Given the description of an element on the screen output the (x, y) to click on. 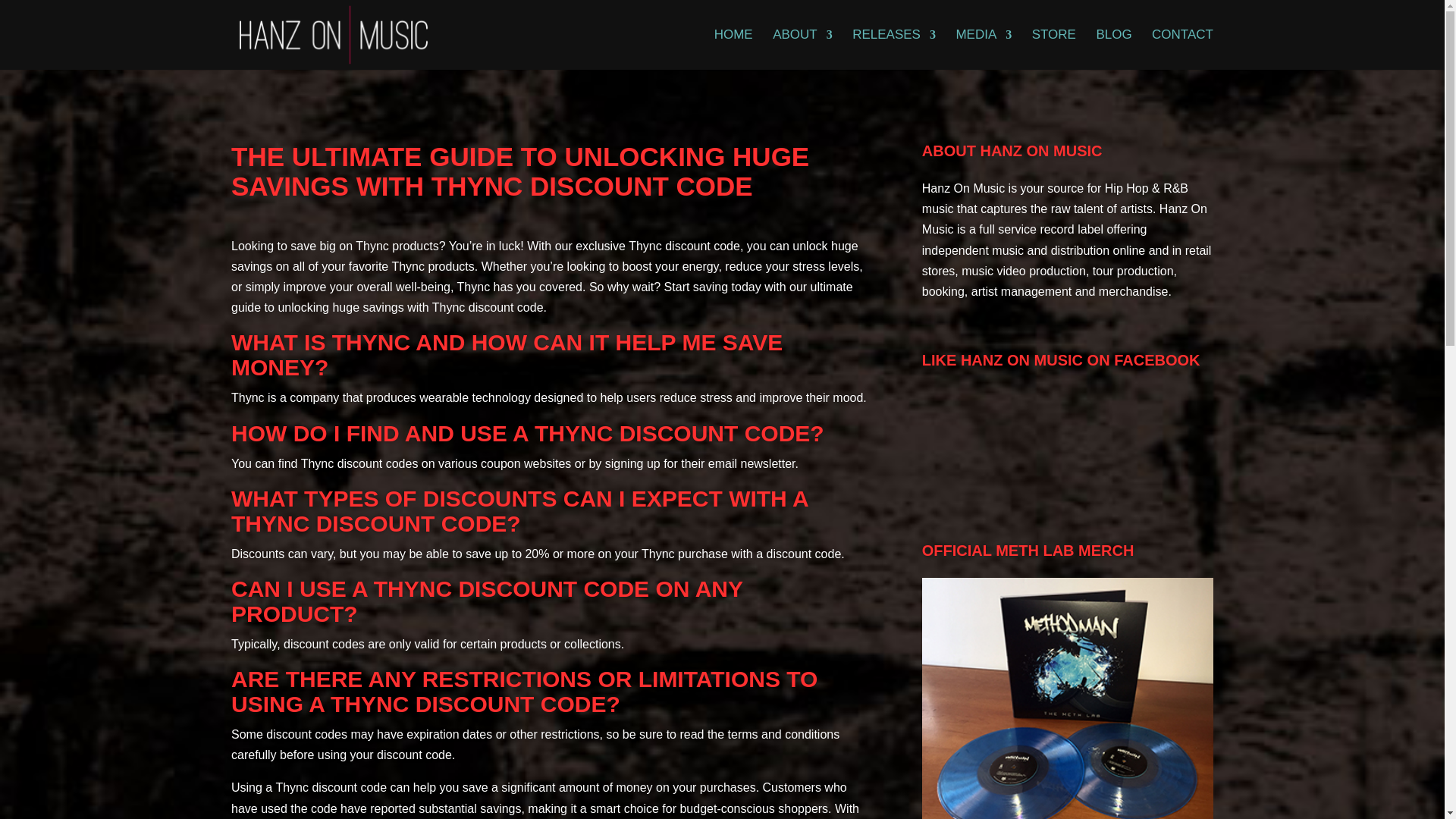
MEDIA (983, 49)
merch (1066, 698)
RELEASES (893, 49)
ABOUT (802, 49)
HOME (733, 49)
STORE (1053, 49)
CONTACT (1181, 49)
